Given the description of an element on the screen output the (x, y) to click on. 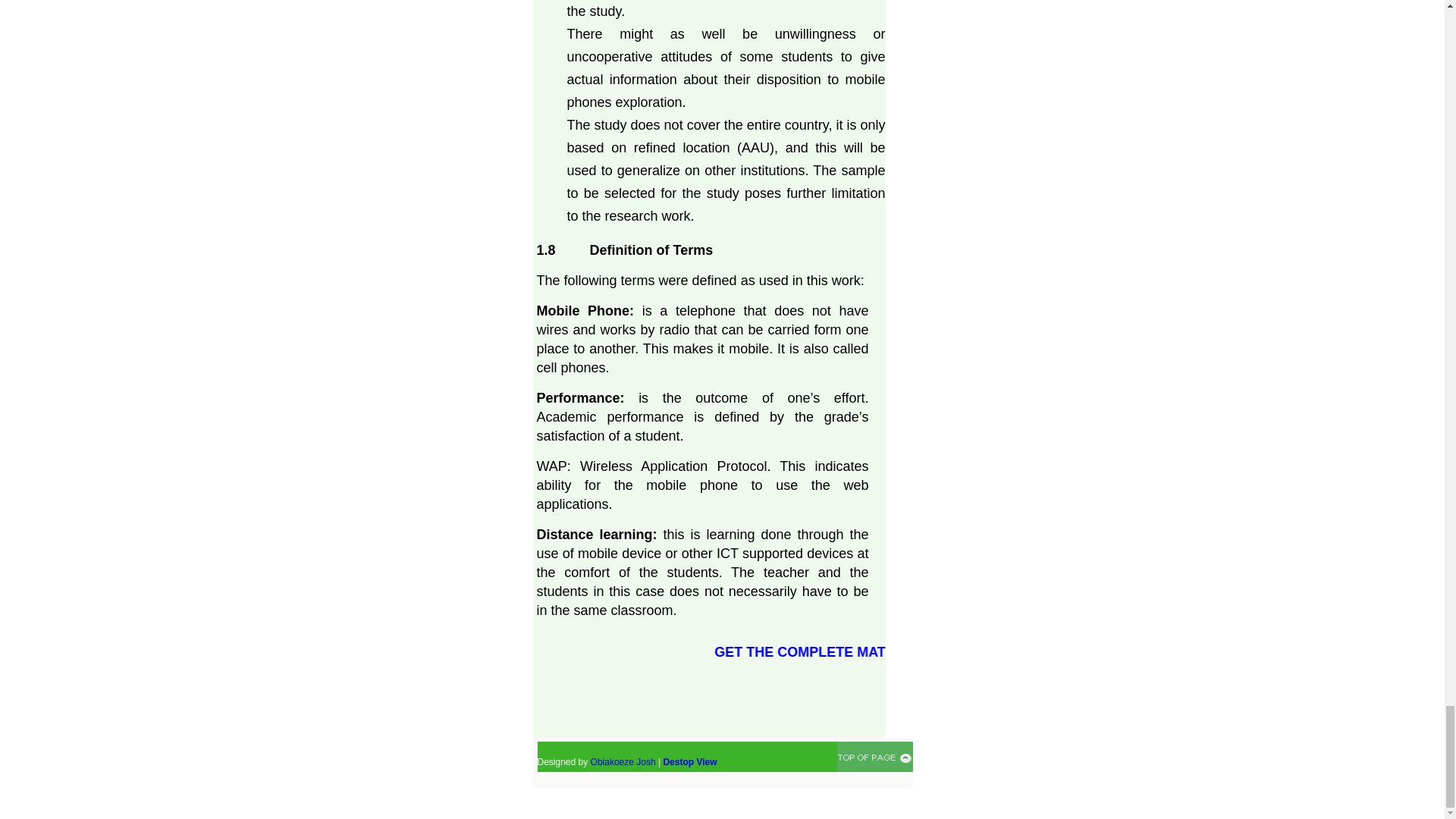
Obiakoeze Josh (623, 761)
Destop View (689, 761)
GET THE COMPLETE MATERIAL (963, 652)
